Given the description of an element on the screen output the (x, y) to click on. 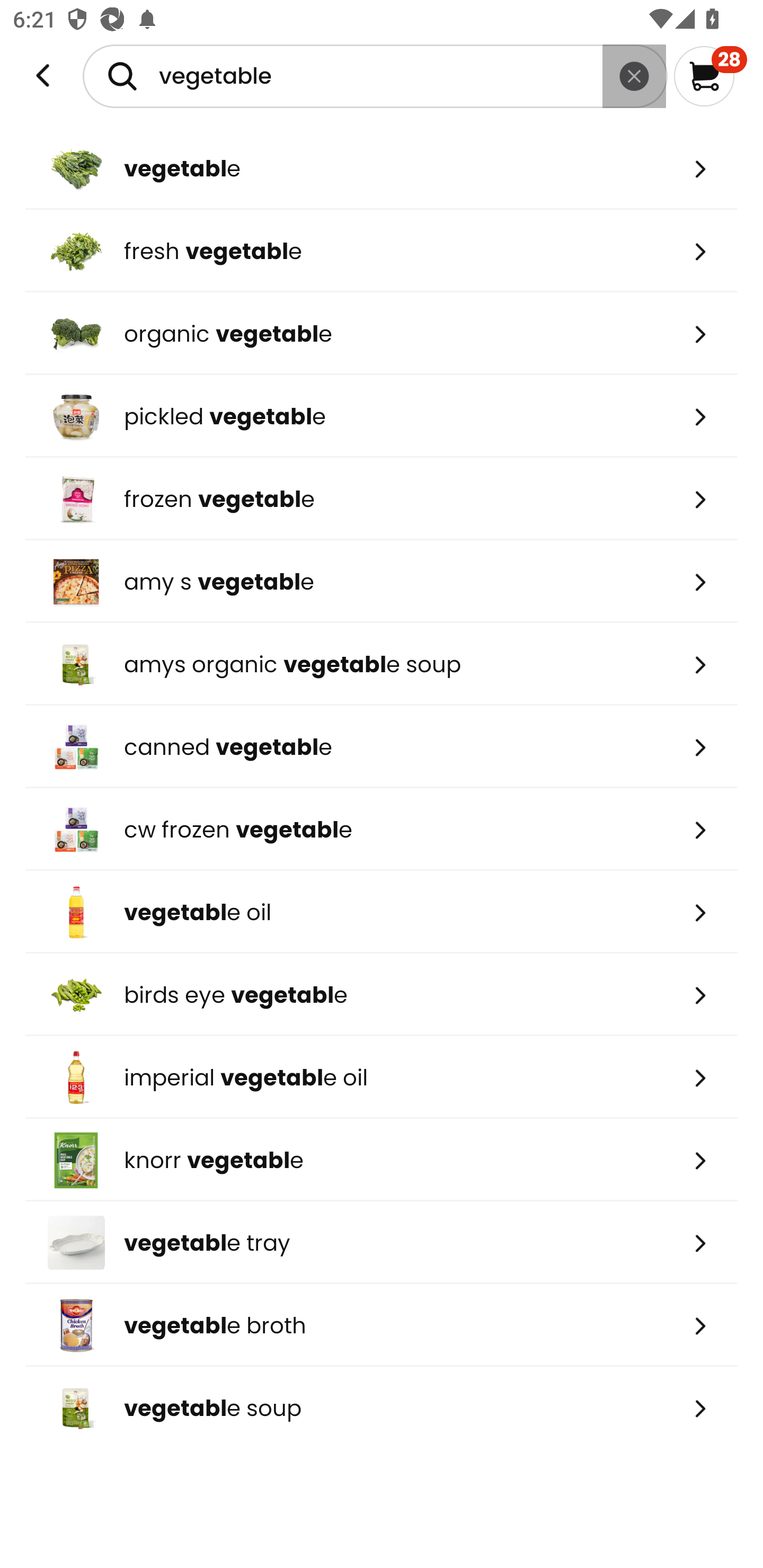
vegetable (374, 75)
28 (709, 75)
Weee! (42, 76)
vegetable (381, 168)
fresh vegetable (381, 250)
organic vegetable (381, 332)
pickled vegetable (381, 415)
frozen vegetable (381, 498)
amy s vegetable (381, 581)
amys organic vegetable soup (381, 663)
canned vegetable (381, 746)
cw frozen vegetable (381, 829)
vegetable oil (381, 911)
birds eye vegetable (381, 994)
imperial vegetable oil (381, 1077)
knorr vegetable (381, 1160)
vegetable tray (381, 1242)
vegetable broth (381, 1325)
vegetable soup (381, 1407)
